Given the description of an element on the screen output the (x, y) to click on. 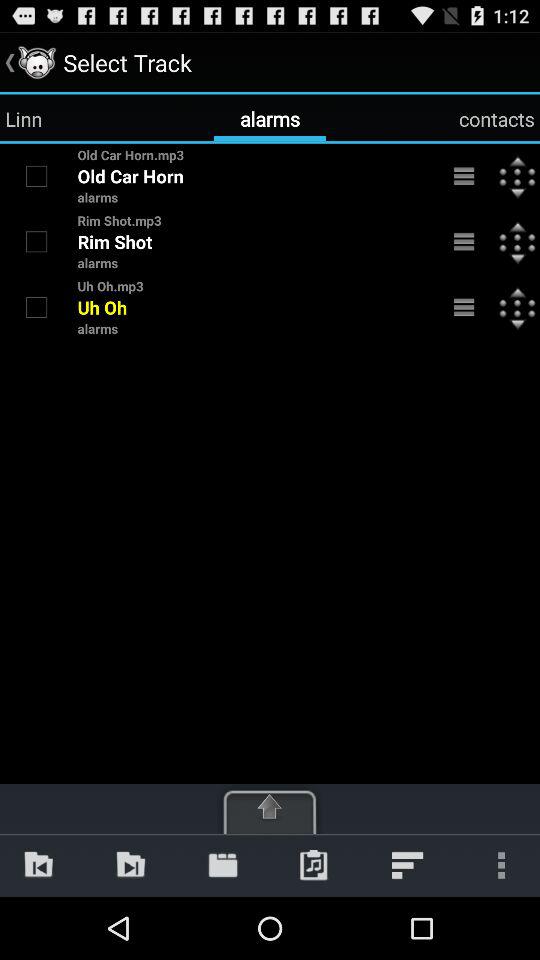
select option (36, 307)
